Given the description of an element on the screen output the (x, y) to click on. 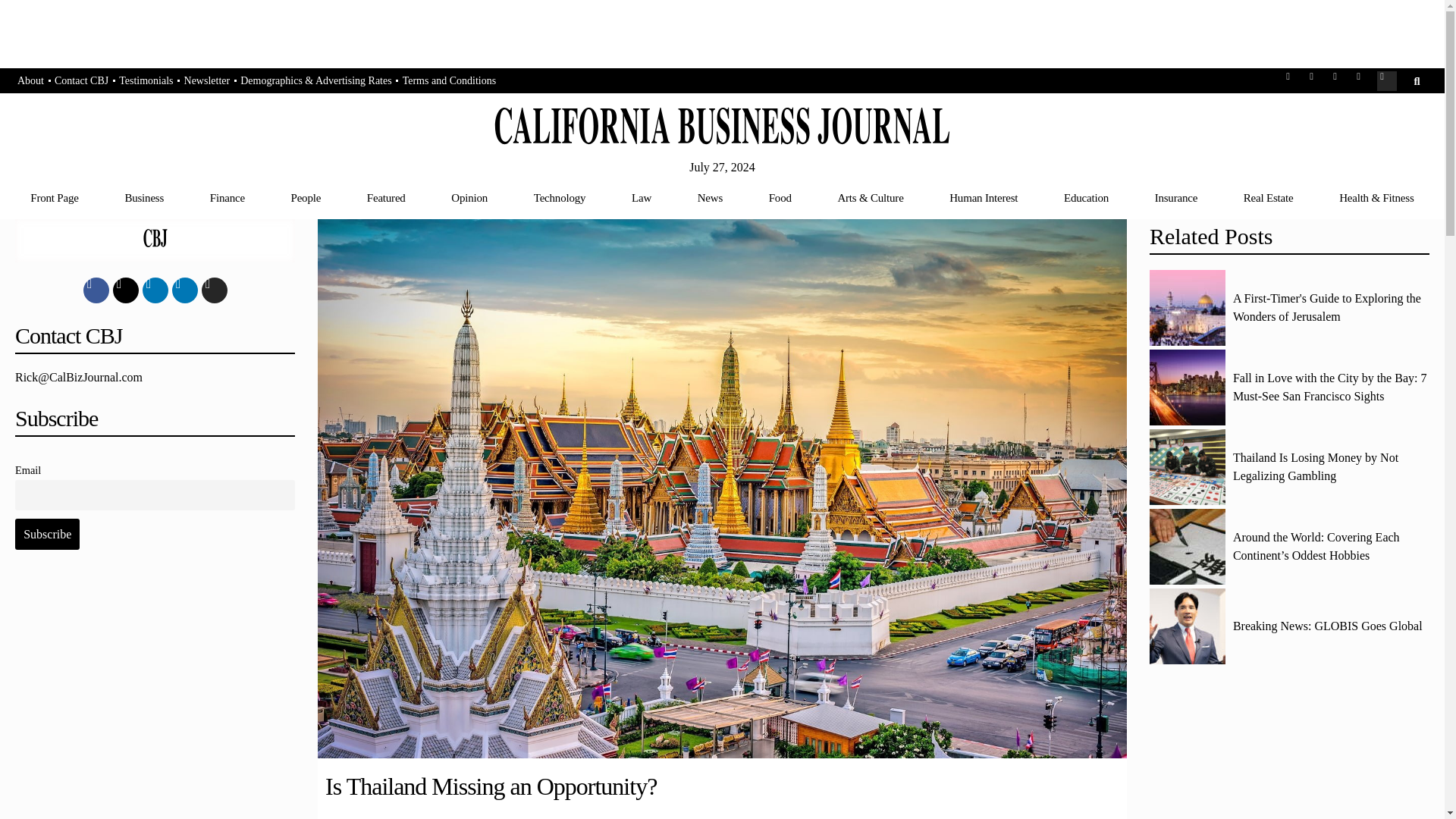
Front Page (54, 197)
Newsletter (207, 81)
About (30, 81)
Terms and Conditions (448, 81)
Featured (385, 197)
News (709, 197)
Human Interest (983, 197)
Advertisement (154, 698)
Law (641, 197)
People (305, 197)
Subscribe (47, 533)
Real Estate (1268, 197)
Business (143, 197)
Contact CBJ (81, 81)
Opinion (469, 197)
